Given the description of an element on the screen output the (x, y) to click on. 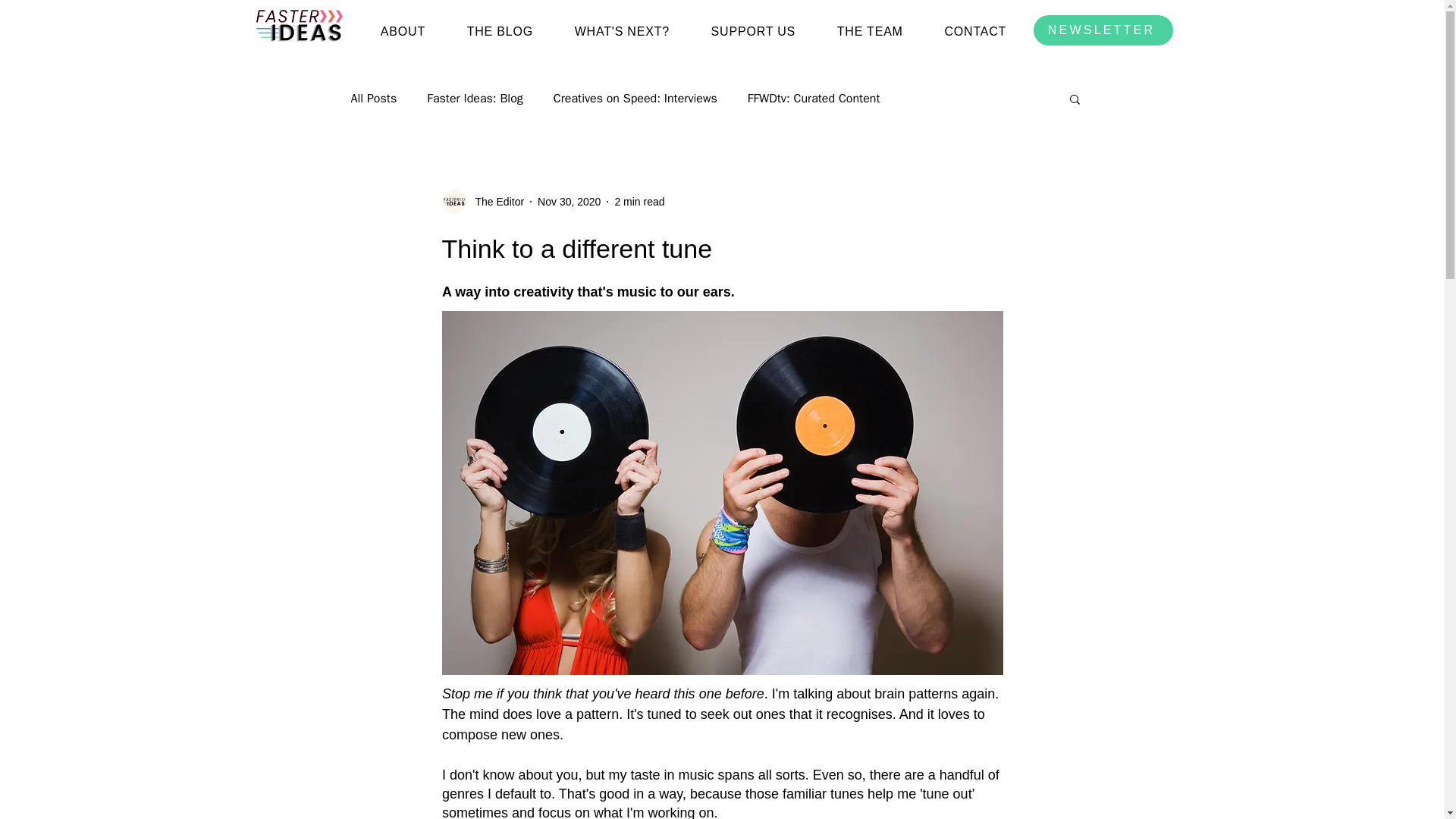
CONTACT (974, 31)
The Editor (494, 201)
NEWSLETTER (1102, 30)
THE BLOG (498, 31)
All Posts (373, 98)
2 min read (638, 201)
ABOUT (402, 31)
SUPPORT US (752, 31)
Faster Ideas: Blog (474, 98)
WHAT'S NEXT? (621, 31)
Creatives on Speed: Interviews (635, 98)
FFWDtv: Curated Content (814, 98)
Nov 30, 2020 (568, 201)
THE TEAM (868, 31)
